Given the description of an element on the screen output the (x, y) to click on. 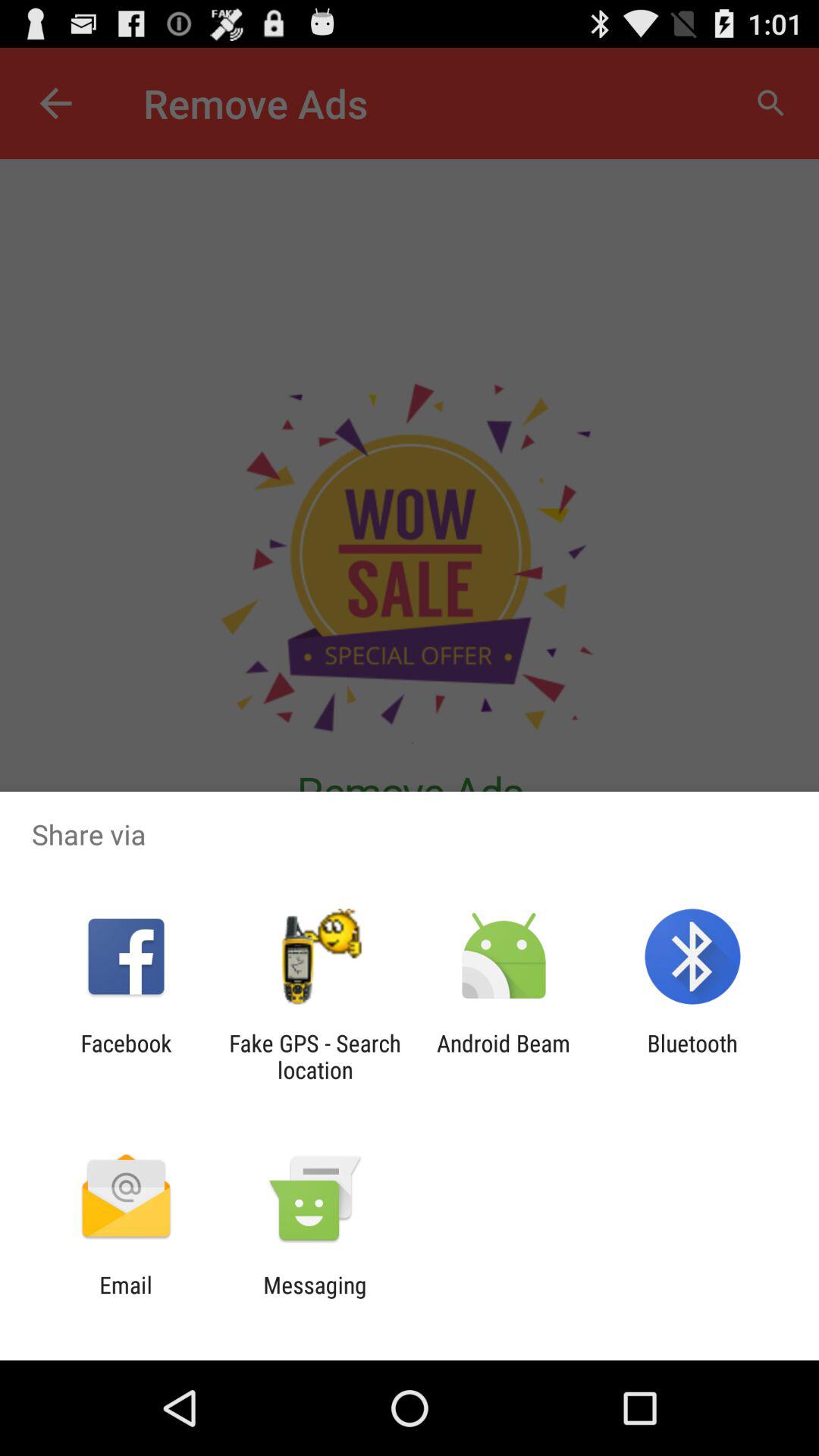
choose the item to the right of facebook item (314, 1056)
